Given the description of an element on the screen output the (x, y) to click on. 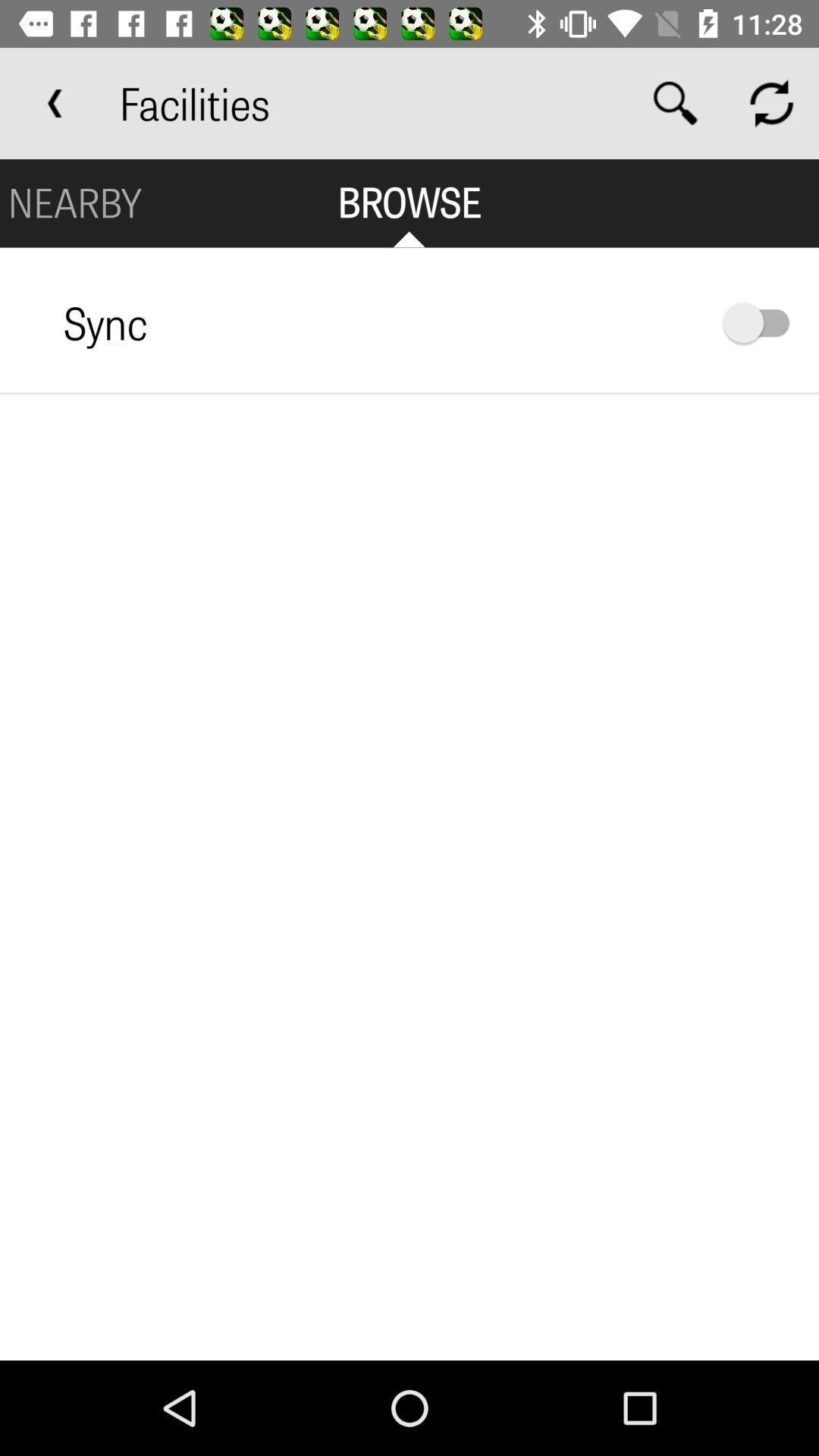
click the icon next to facilities item (675, 103)
